Given the description of an element on the screen output the (x, y) to click on. 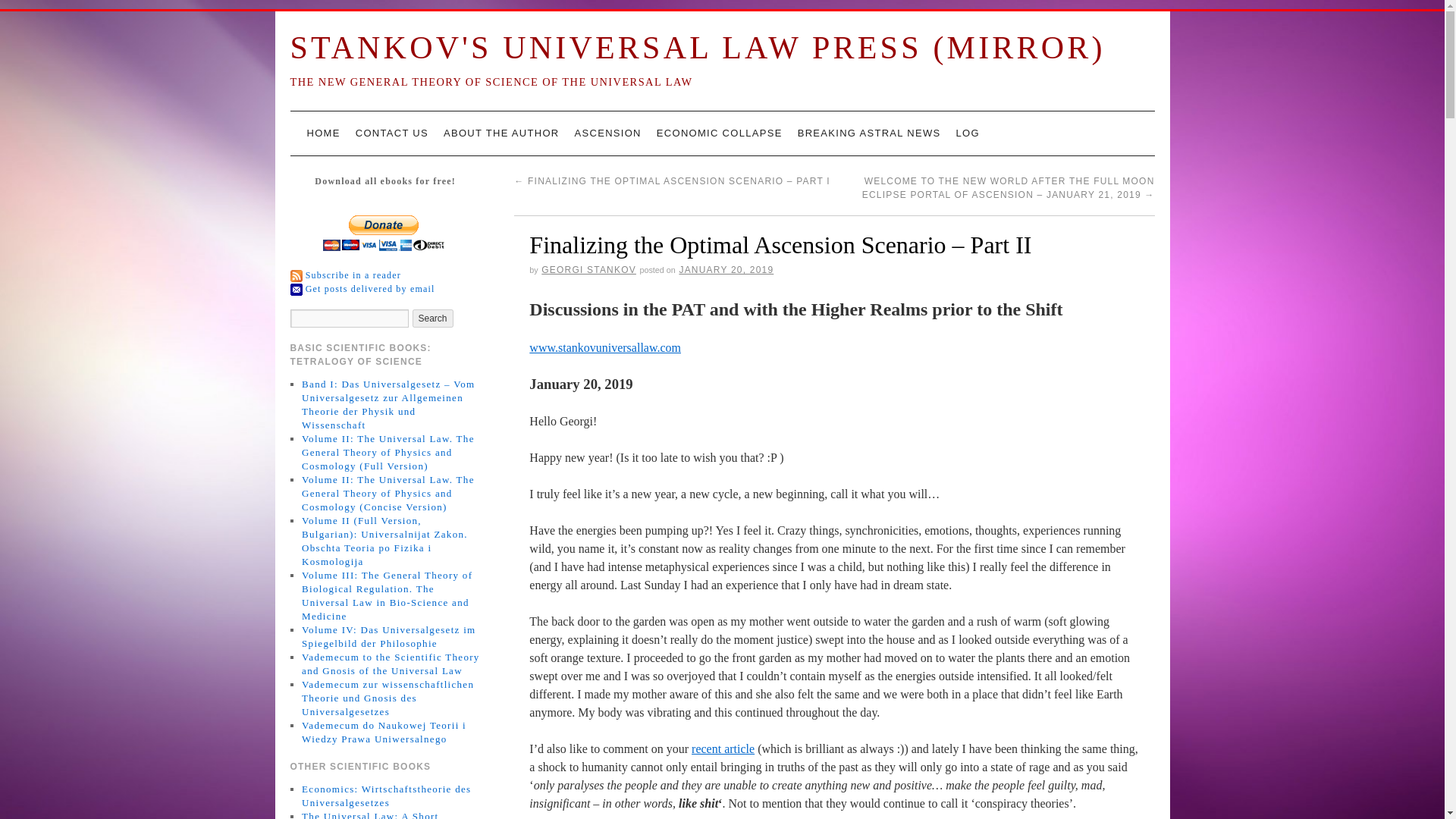
10:18 am (725, 269)
stankovuniversallaw.com (839, 15)
Search (432, 318)
GEORGI STANKOV (588, 269)
BREAKING ASTRAL NEWS (869, 133)
Search (432, 318)
ABOUT THE AUTHOR (501, 133)
View all posts by Georgi Stankov (588, 269)
Subscribe in a reader (353, 275)
ECONOMIC COLLAPSE (719, 133)
